Given the description of an element on the screen output the (x, y) to click on. 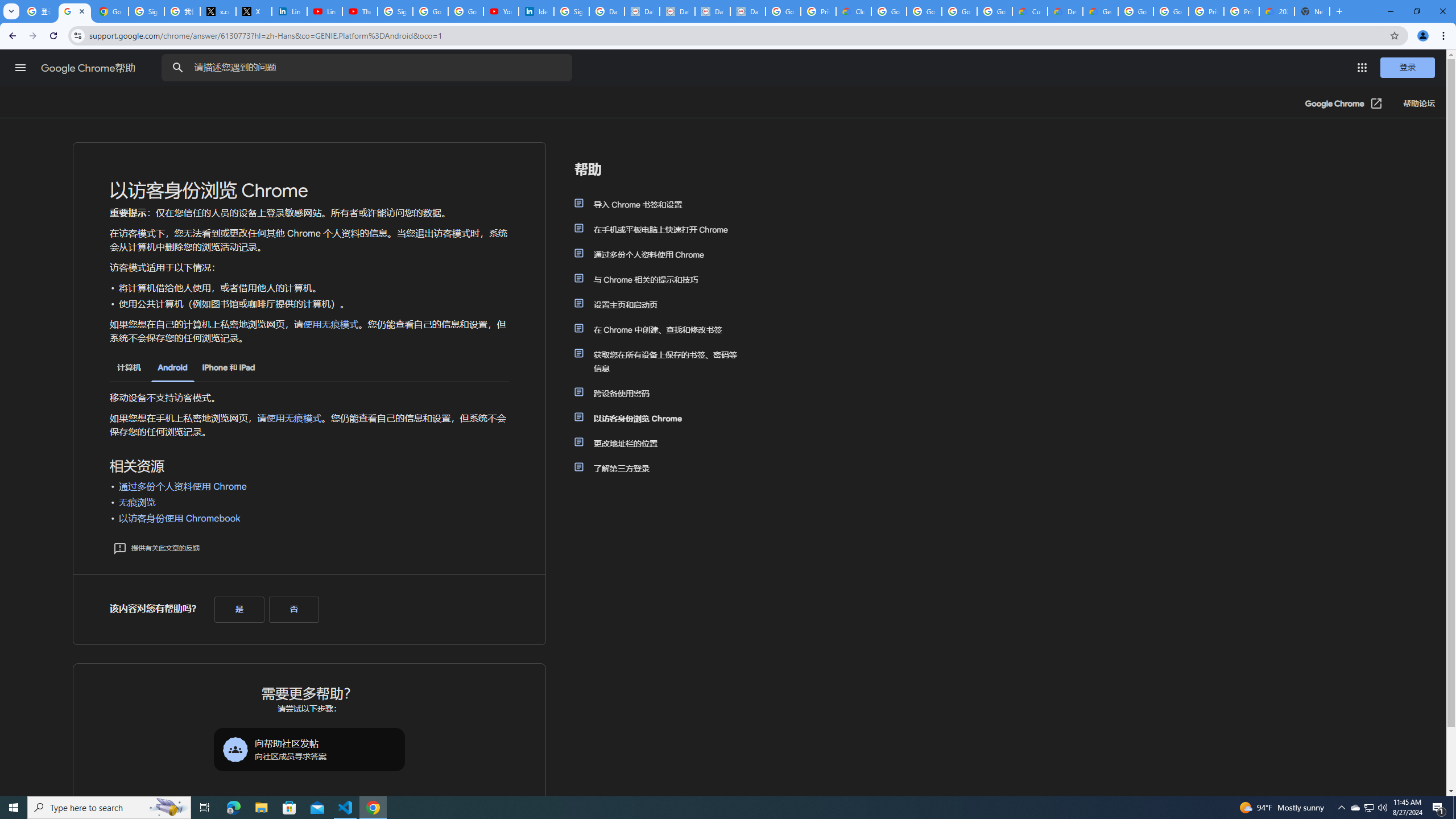
New Tab (1312, 11)
X (253, 11)
Data Privacy Framework (641, 11)
